Given the description of an element on the screen output the (x, y) to click on. 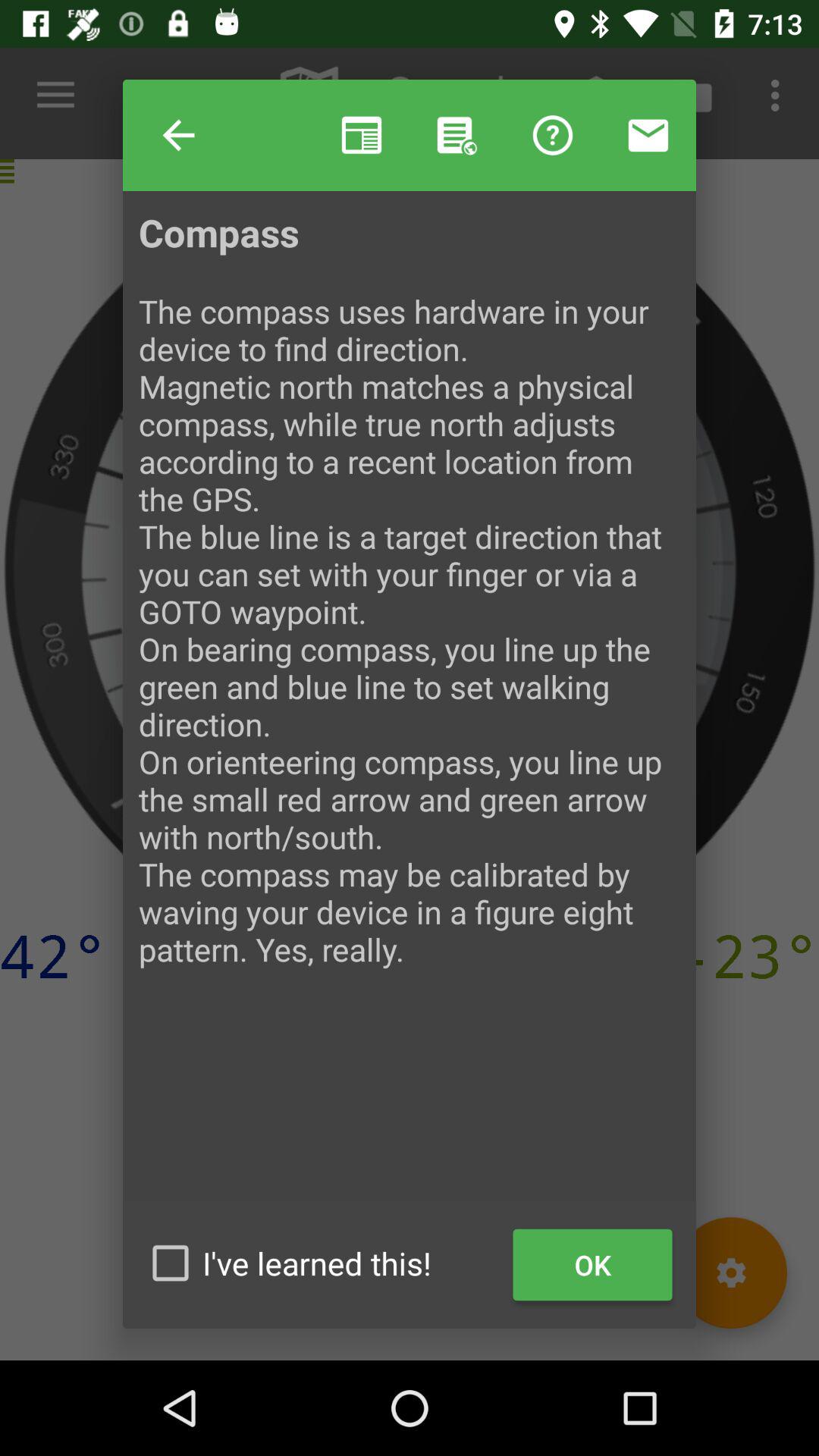
click item next to the help item (178, 135)
